Given the description of an element on the screen output the (x, y) to click on. 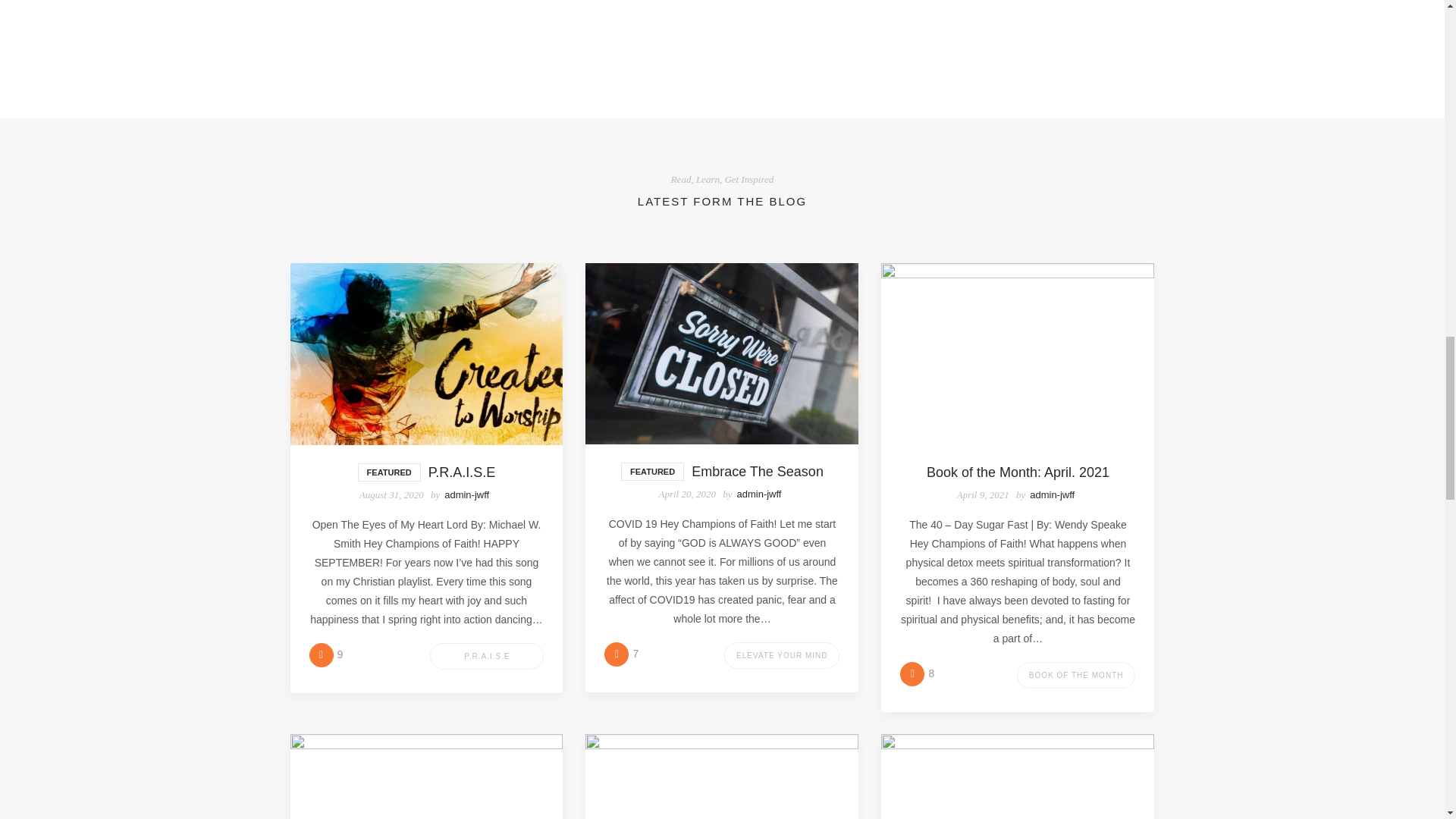
BOOK OF THE MONTH (1075, 674)
FEATUREDP.R.A.I.S.E (426, 472)
admin-jwff (1051, 494)
P.R.A.I.S.E (486, 655)
8 (916, 673)
Posts by admin-jwff (758, 493)
FEATUREDEmbrace The Season (722, 471)
ELEVATE YOUR MIND (781, 655)
Posts by admin-jwff (466, 494)
admin-jwff (466, 494)
